Given the description of an element on the screen output the (x, y) to click on. 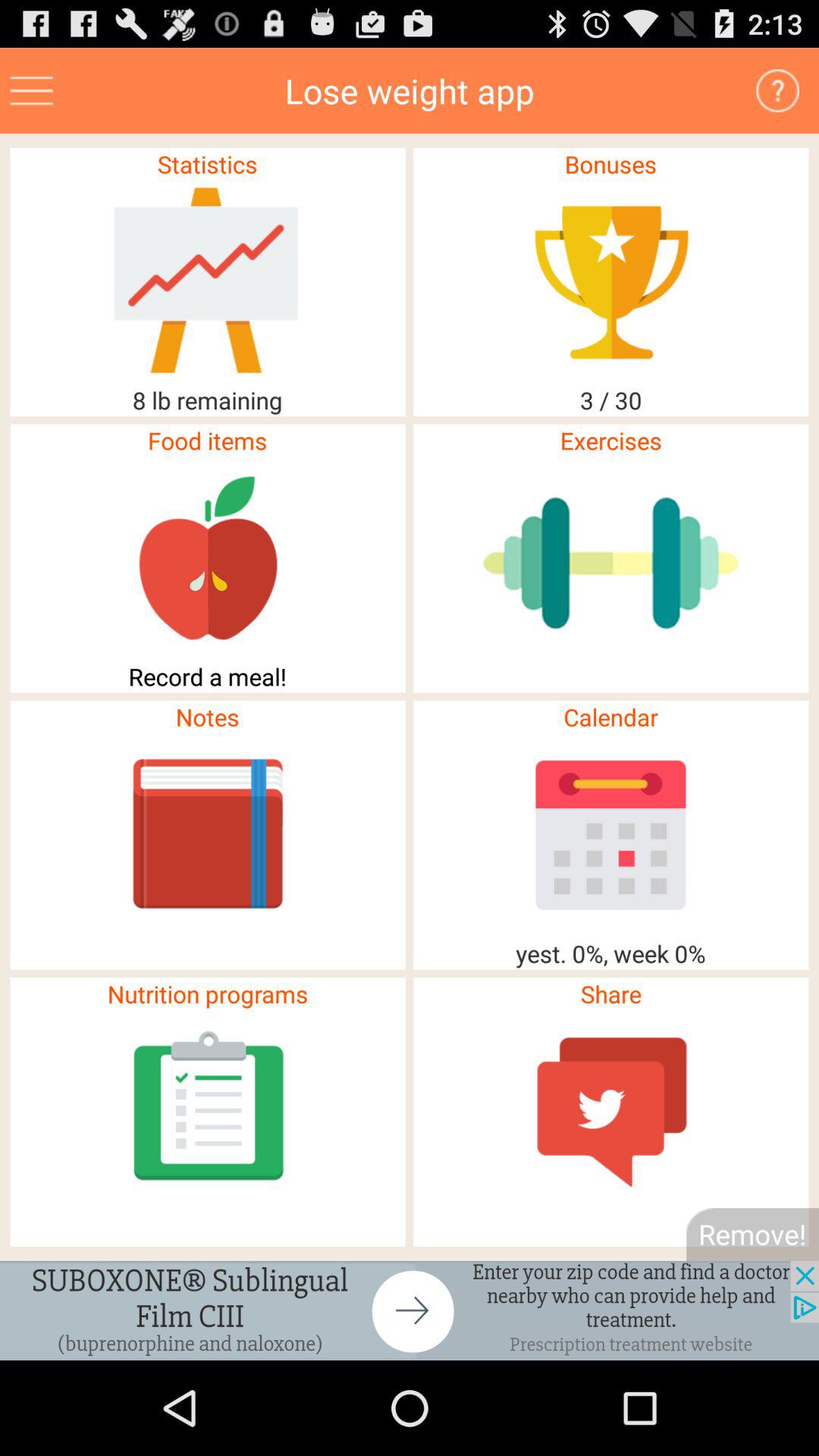
question the option (777, 90)
